Given the description of an element on the screen output the (x, y) to click on. 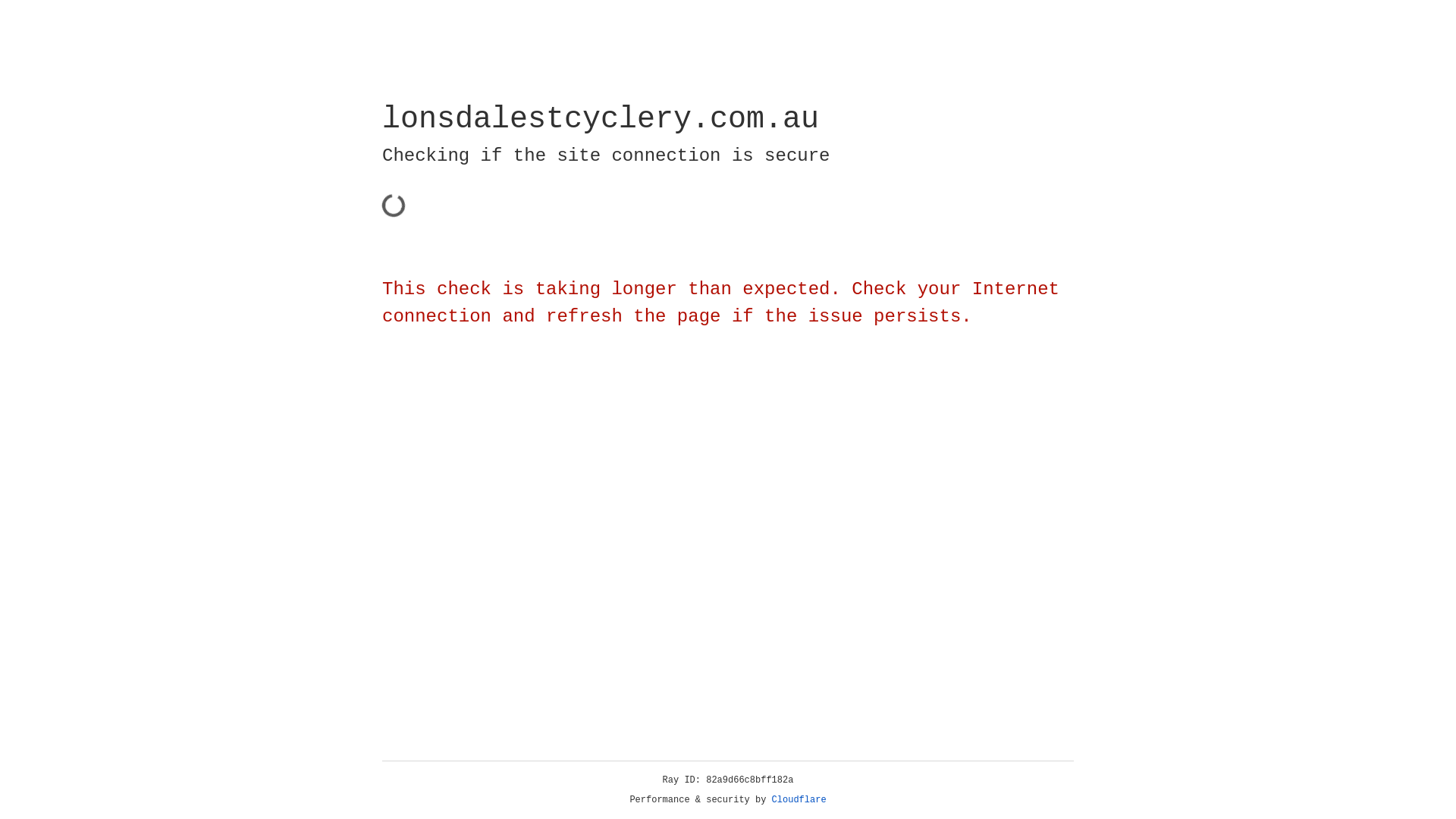
Cloudflare Element type: text (798, 799)
